Given the description of an element on the screen output the (x, y) to click on. 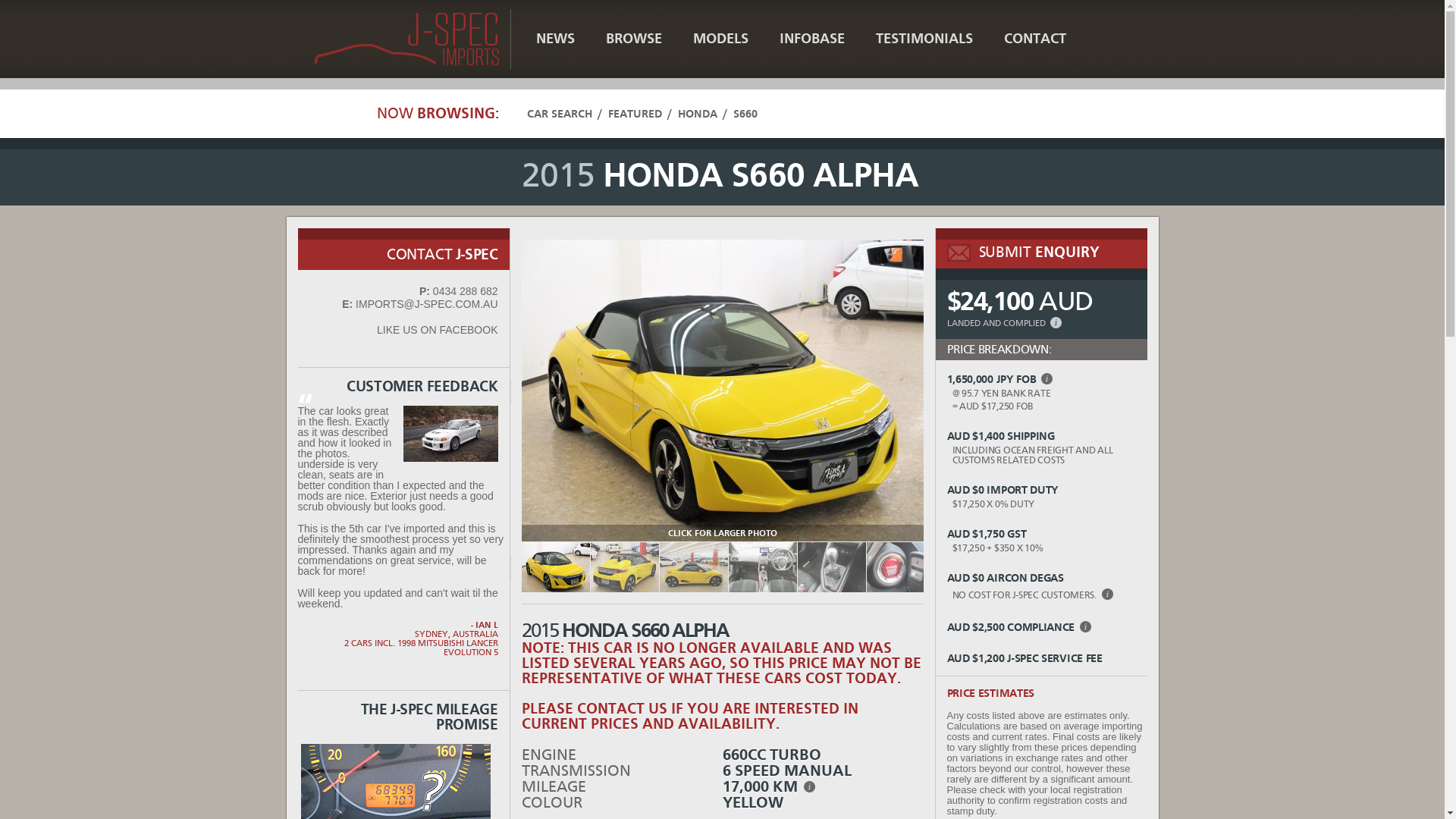
FEATURED Element type: text (635, 113)
CUSTOMER FEEDBACK Element type: text (402, 386)
SUBMIT ENQUIRY Element type: text (1041, 248)
S660 Element type: text (744, 113)
CONTACT Element type: text (1034, 38)
NEWS Element type: text (554, 38)
Previous Element type: text (502, 391)
BROWSE Element type: text (632, 38)
IMPORTS@J-SPEC.COM.AU Element type: text (426, 304)
HONDA Element type: text (697, 113)
CAR SEARCH Element type: text (558, 113)
TESTIMONIALS Element type: text (923, 38)
MODELS Element type: text (720, 38)
Previous Element type: text (502, 567)
INFOBASE Element type: text (811, 38)
LIKE US ON FACEBOOK Element type: text (437, 329)
